Given the description of an element on the screen output the (x, y) to click on. 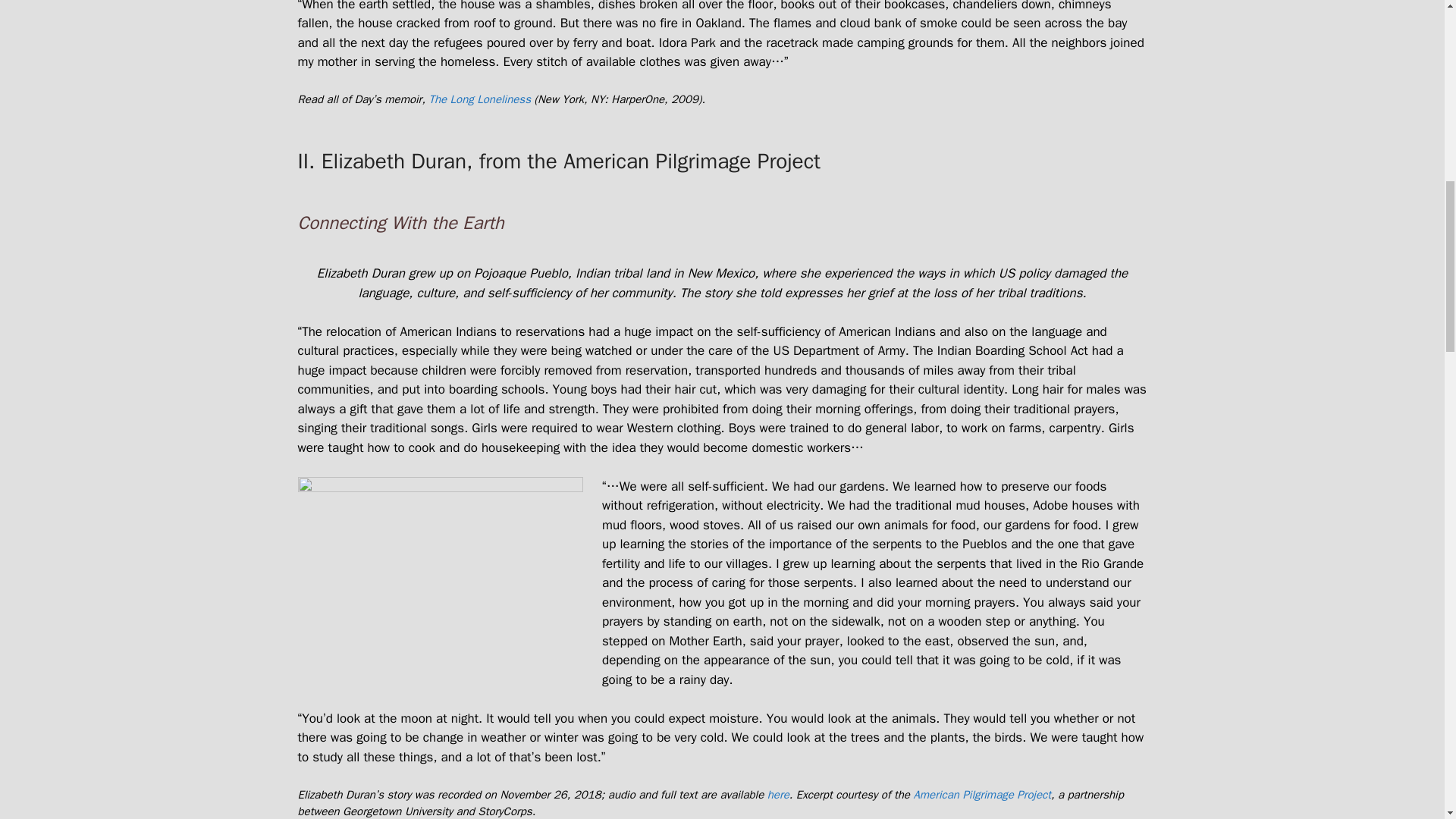
Scroll back to top (1406, 720)
American Pilgrimage Project (981, 793)
here (778, 793)
The Long Loneliness (479, 99)
